Given the description of an element on the screen output the (x, y) to click on. 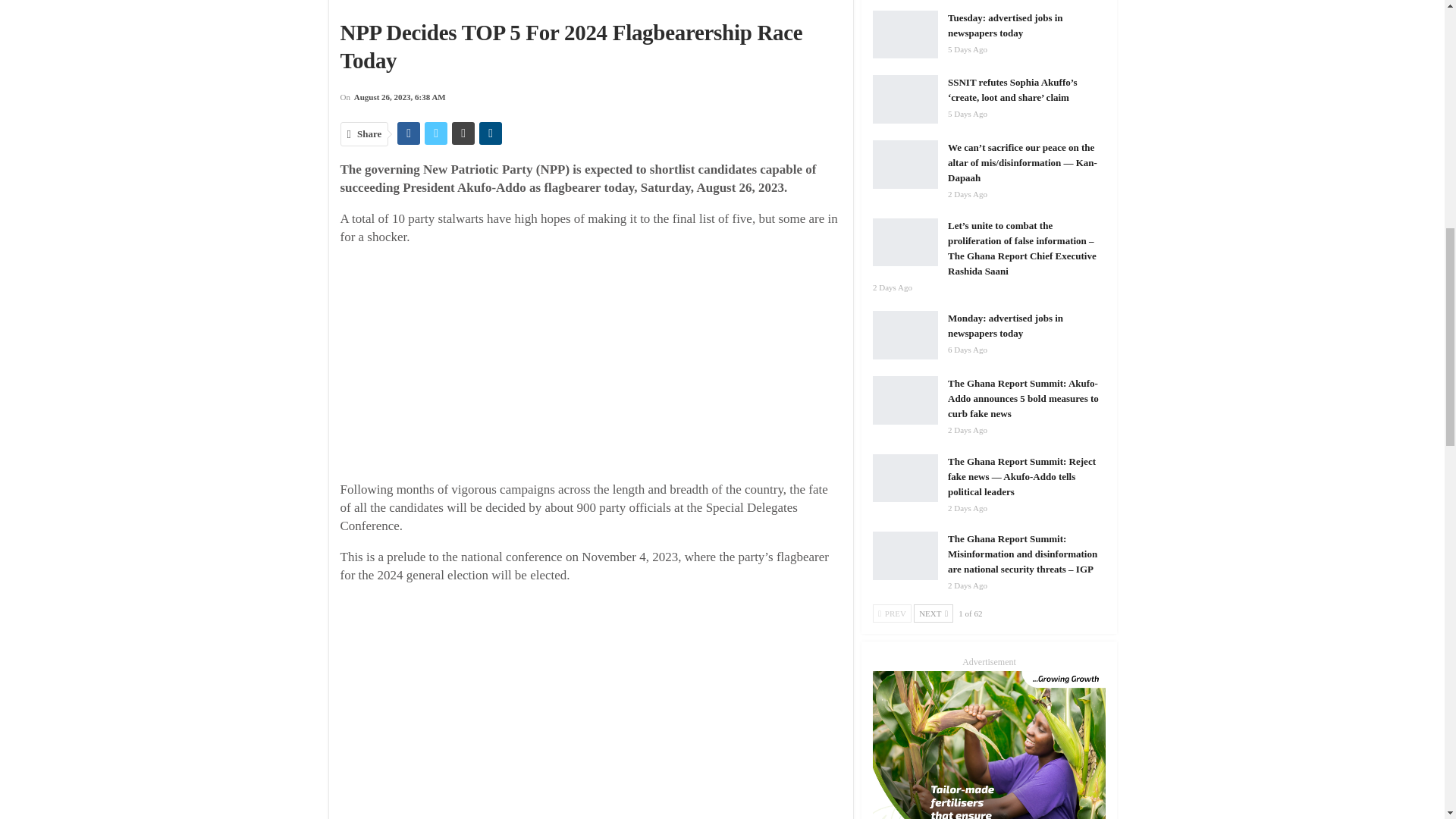
Advertisement (601, 365)
Headlines (453, 3)
Advertisement (601, 703)
